Given the description of an element on the screen output the (x, y) to click on. 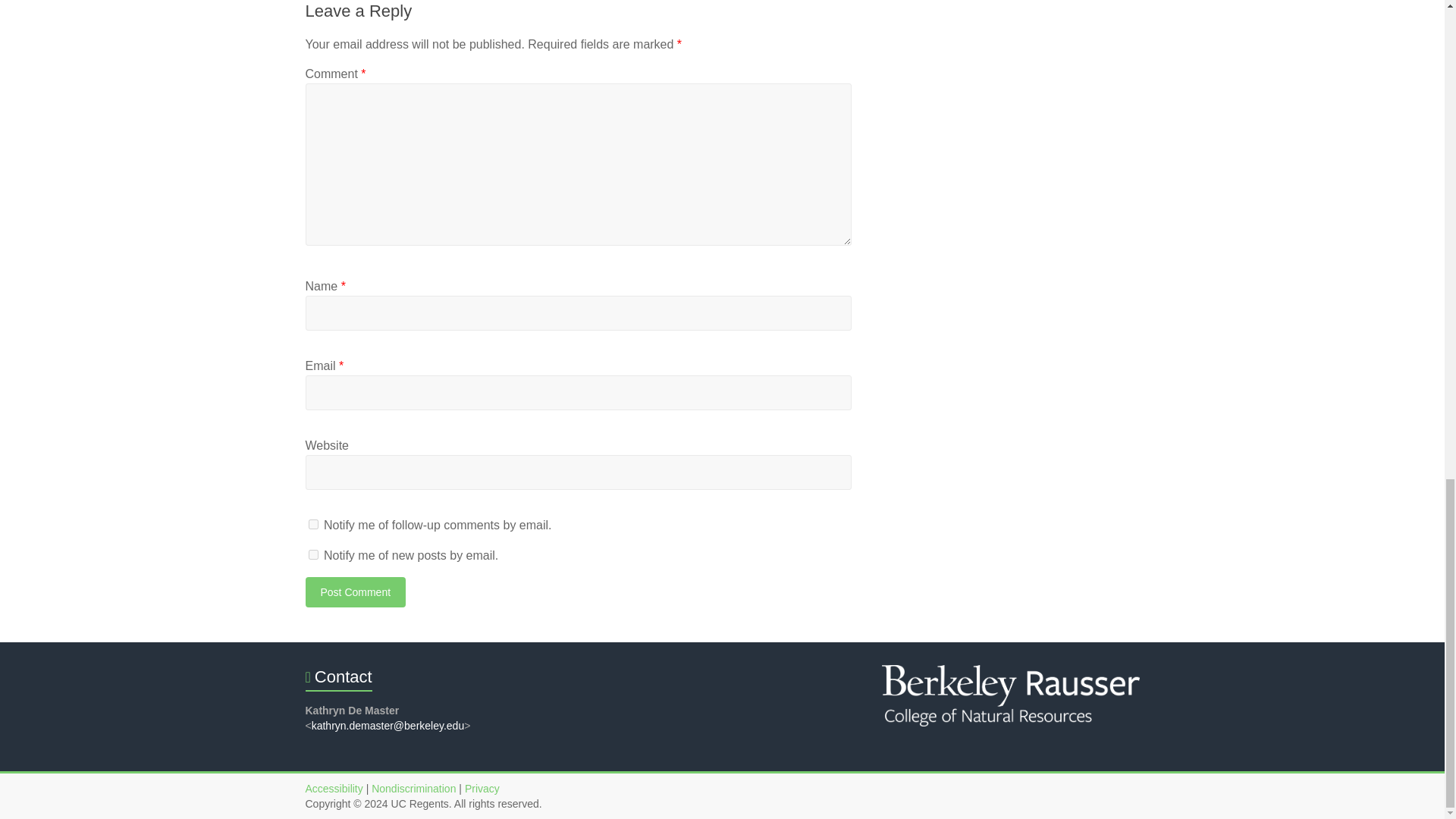
Post Comment (355, 592)
Post Comment (355, 592)
subscribe (312, 554)
subscribe (312, 524)
